Given the description of an element on the screen output the (x, y) to click on. 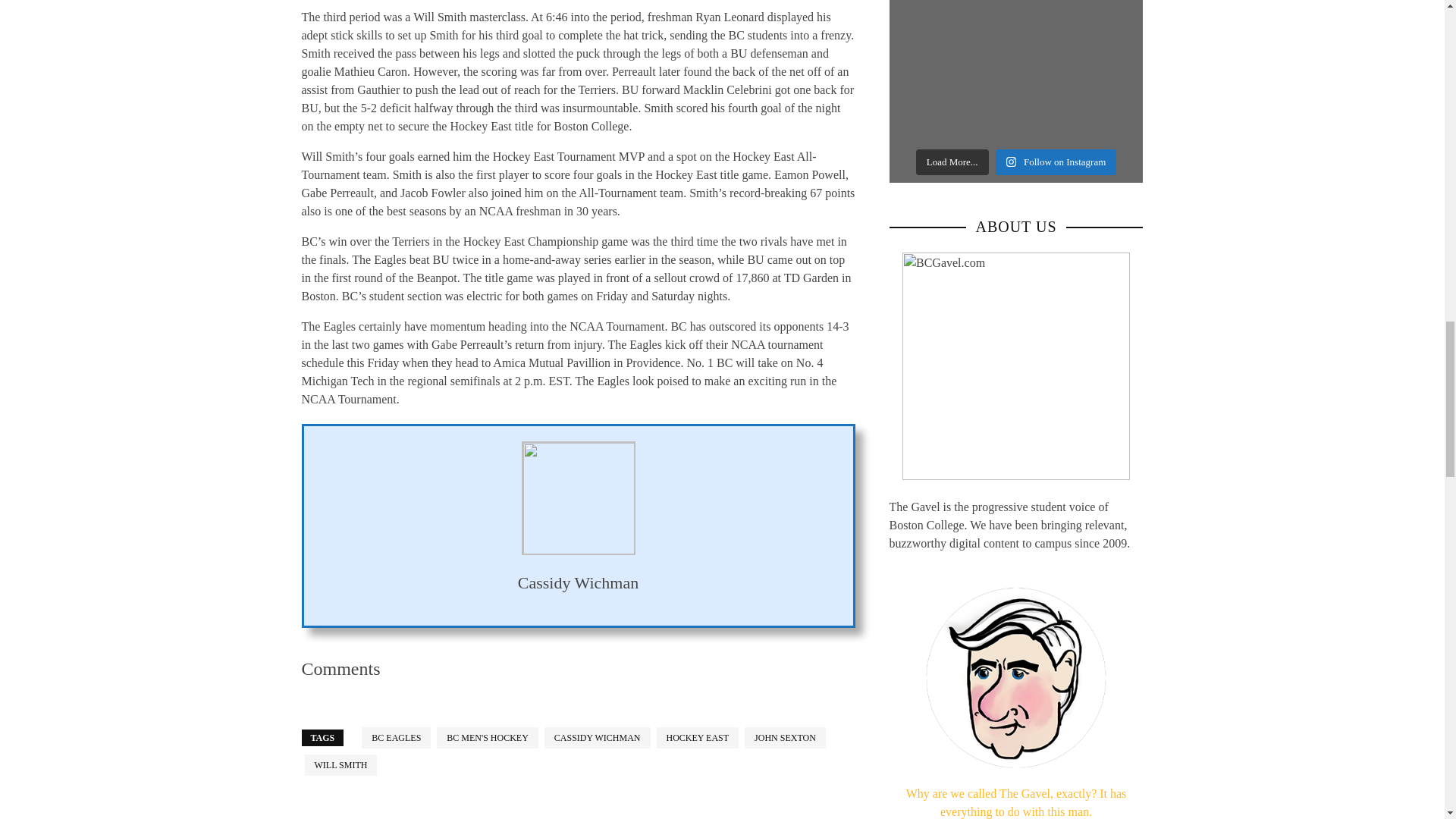
View all posts tagged Cassidy Wichman (597, 737)
View all posts tagged John Sexton (784, 737)
View all posts tagged BC Eagles (395, 737)
View all posts tagged will smith (340, 764)
View all posts tagged BC Men's Hockey (487, 737)
View all posts tagged hockey east (697, 737)
